Given the description of an element on the screen output the (x, y) to click on. 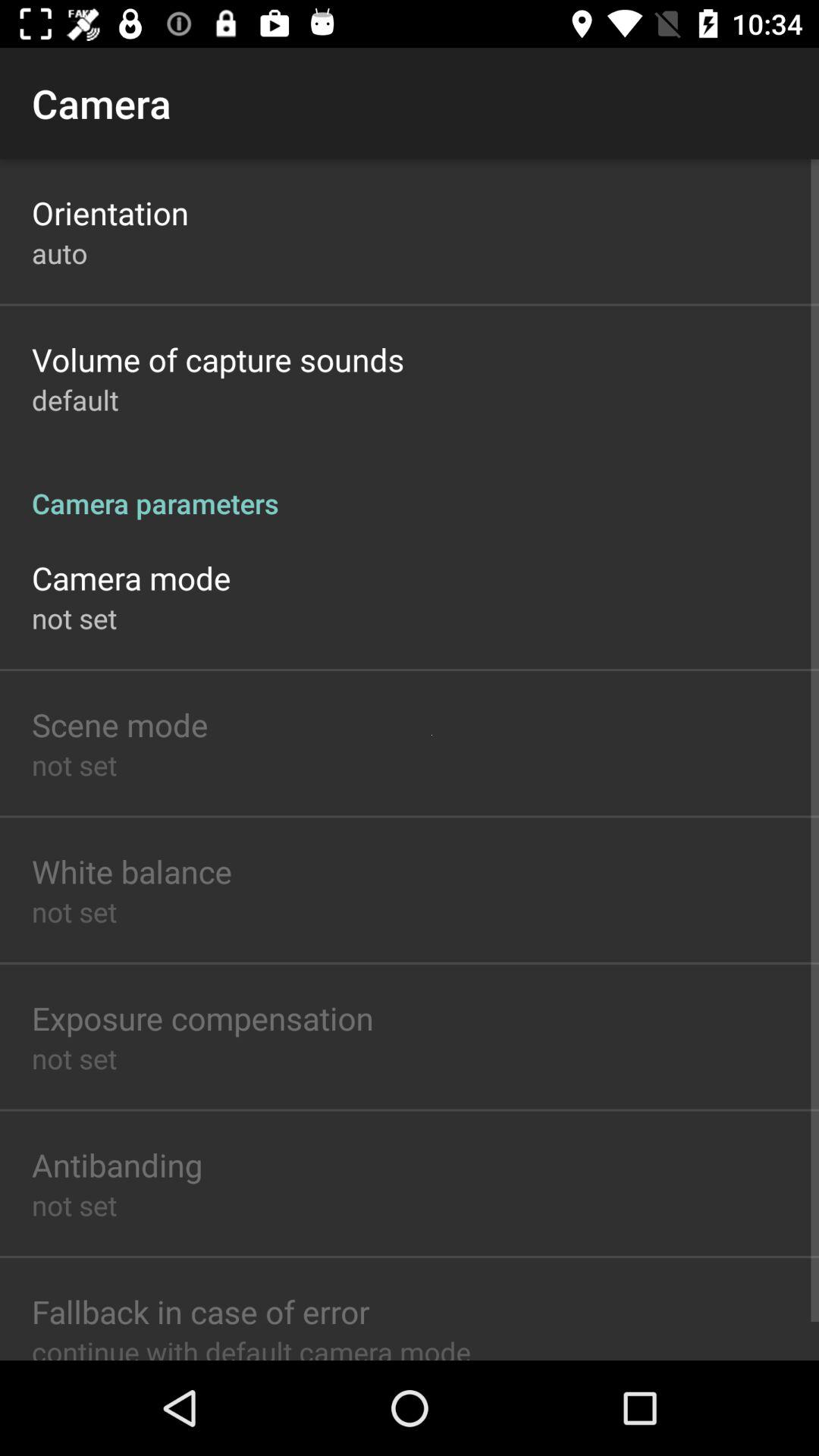
scroll until white balance item (131, 870)
